Given the description of an element on the screen output the (x, y) to click on. 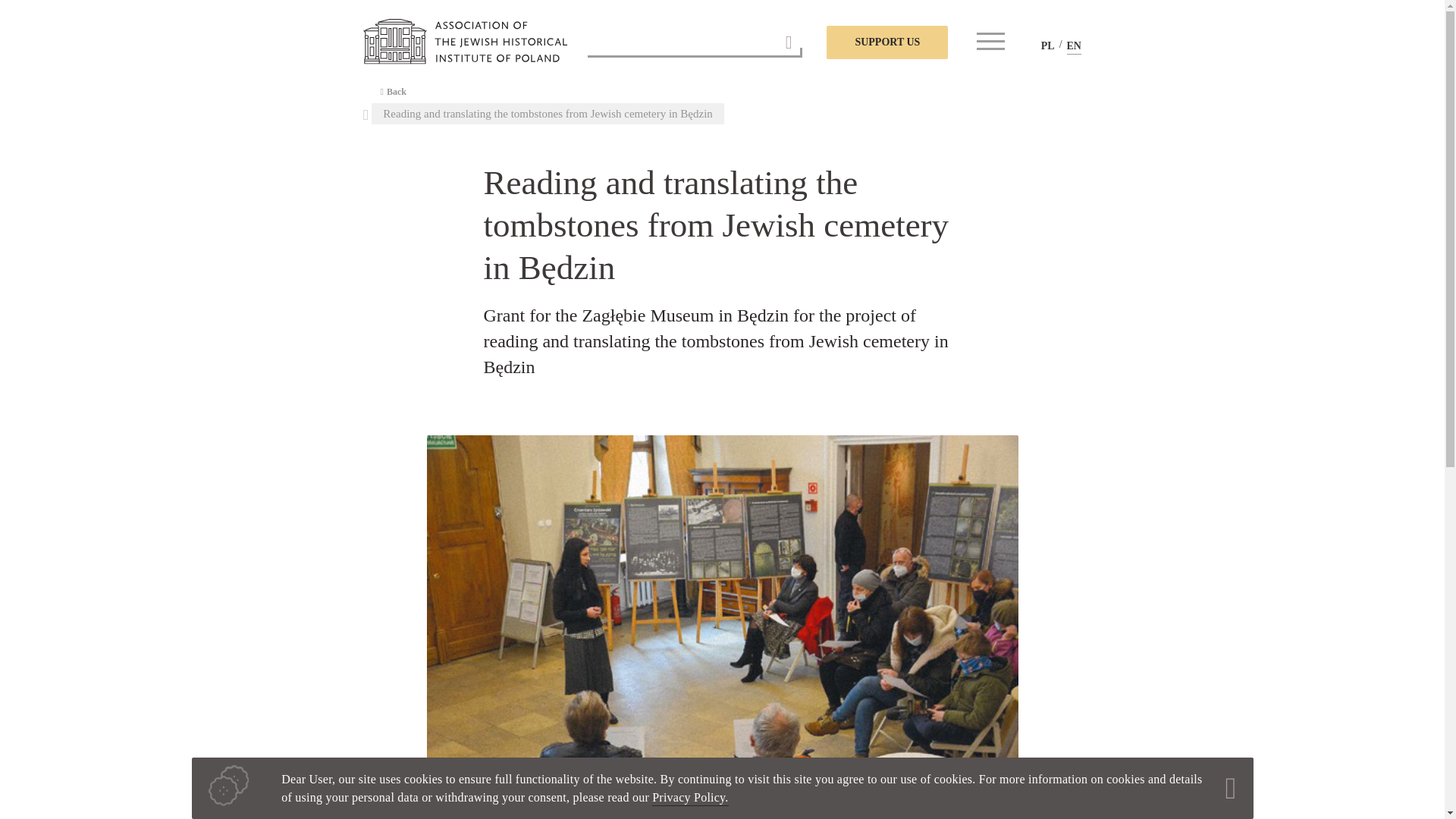
PL (1047, 46)
SUPPORT US (887, 41)
EN (1072, 46)
